Given the description of an element on the screen output the (x, y) to click on. 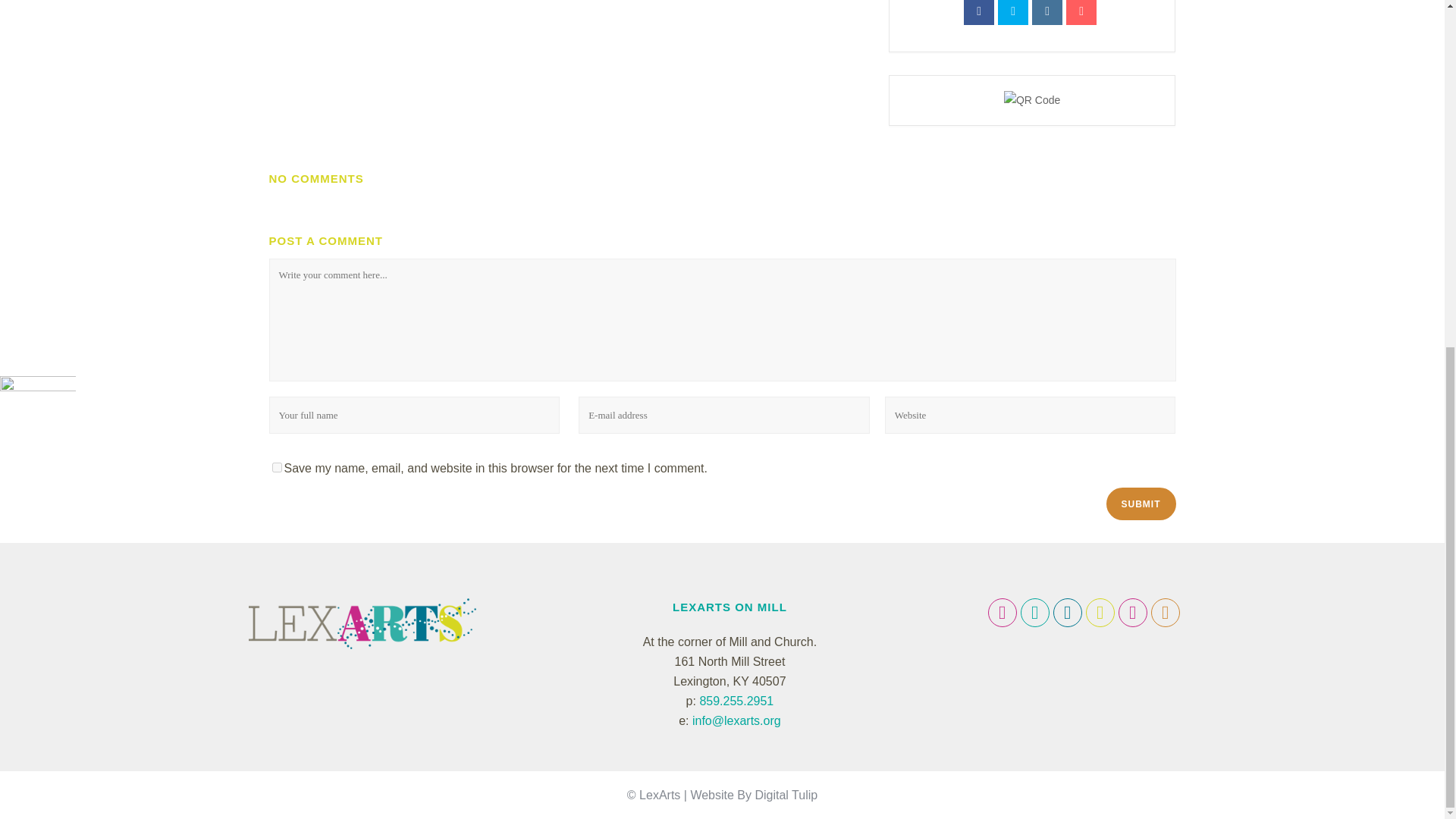
Email (1080, 12)
Linkedin (1047, 12)
yes (275, 467)
Tweet (1012, 12)
Submit (1139, 503)
Website By Digital Tulip (753, 794)
Share on Facebook (978, 12)
